Given the description of an element on the screen output the (x, y) to click on. 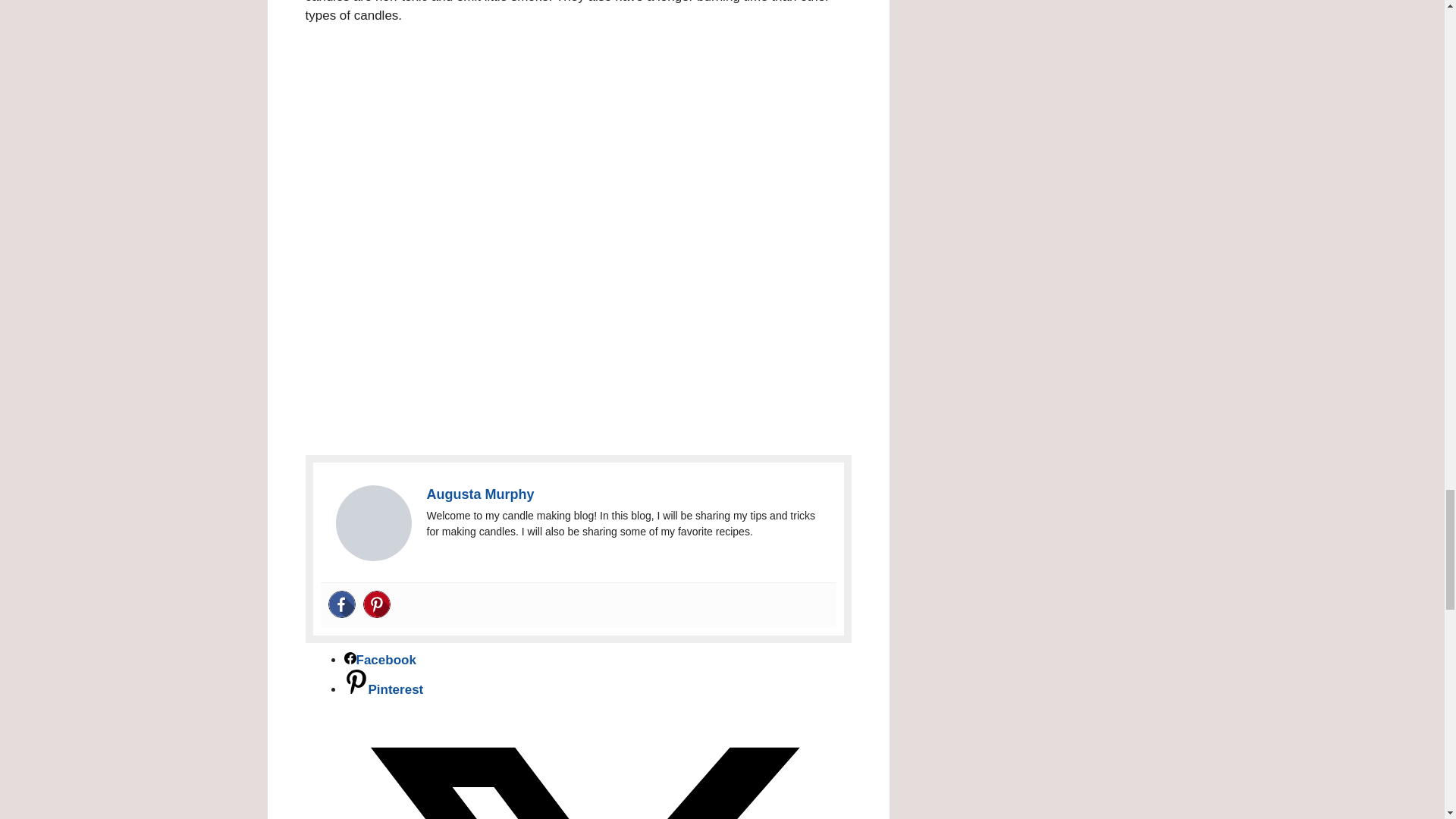
Share on Facebook (379, 658)
Facebook (341, 603)
Share on Pinterest (383, 689)
Pinterest (376, 603)
